Given the description of an element on the screen output the (x, y) to click on. 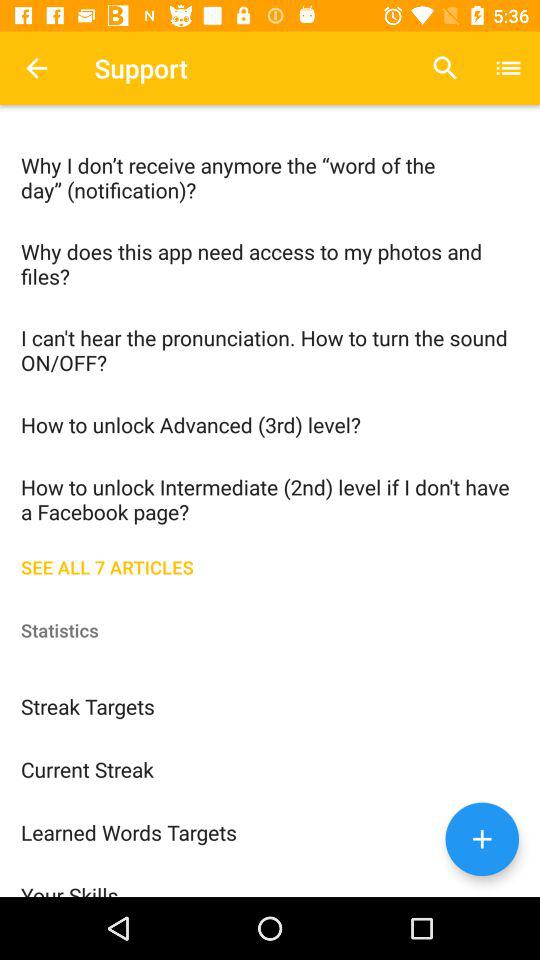
tap item below current streak icon (270, 831)
